Given the description of an element on the screen output the (x, y) to click on. 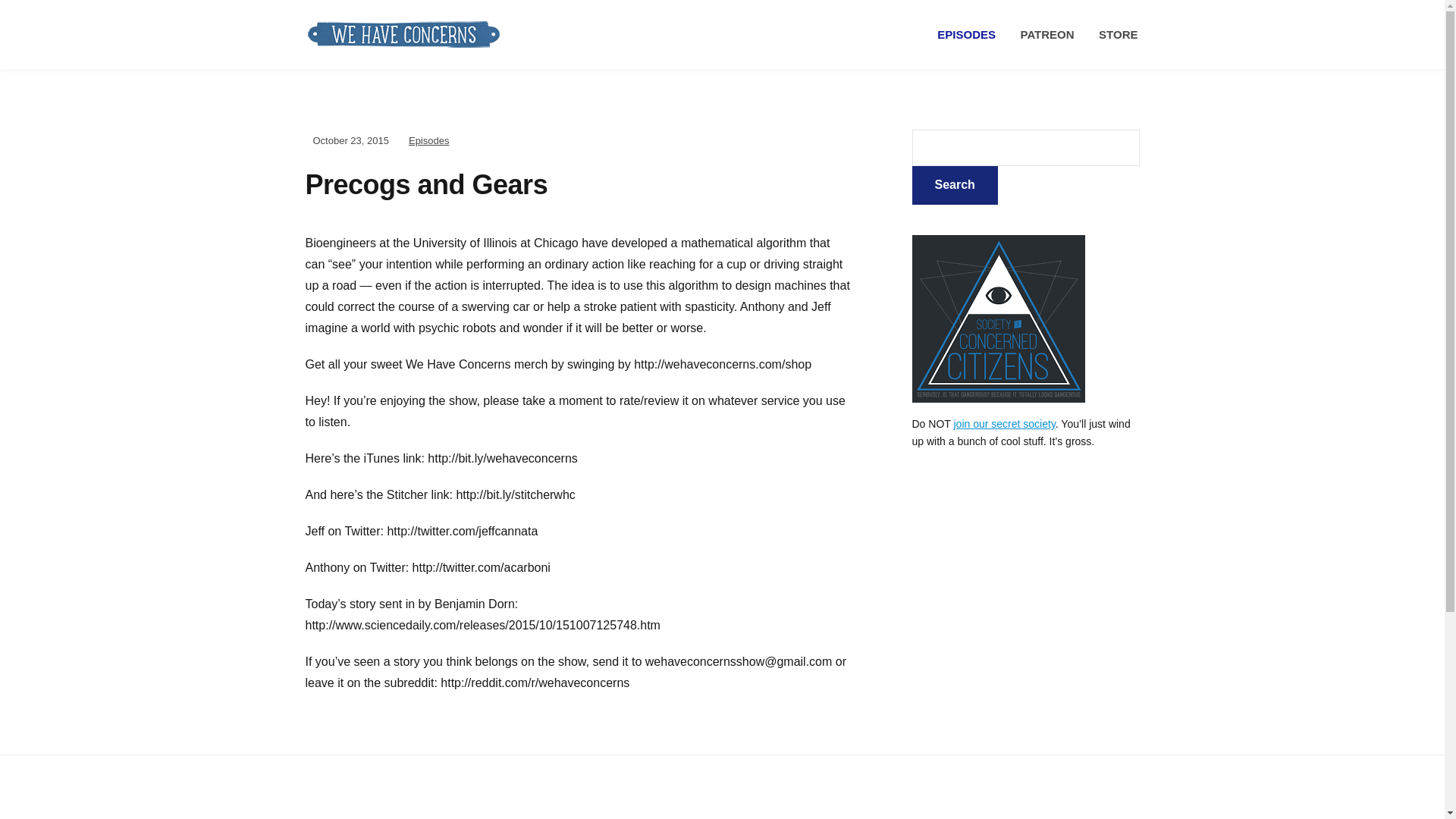
Search (954, 185)
join our secret society (1003, 423)
PATREON (1047, 34)
STORE (1117, 34)
Episodes (428, 140)
Search (954, 185)
EPISODES (966, 34)
